Given the description of an element on the screen output the (x, y) to click on. 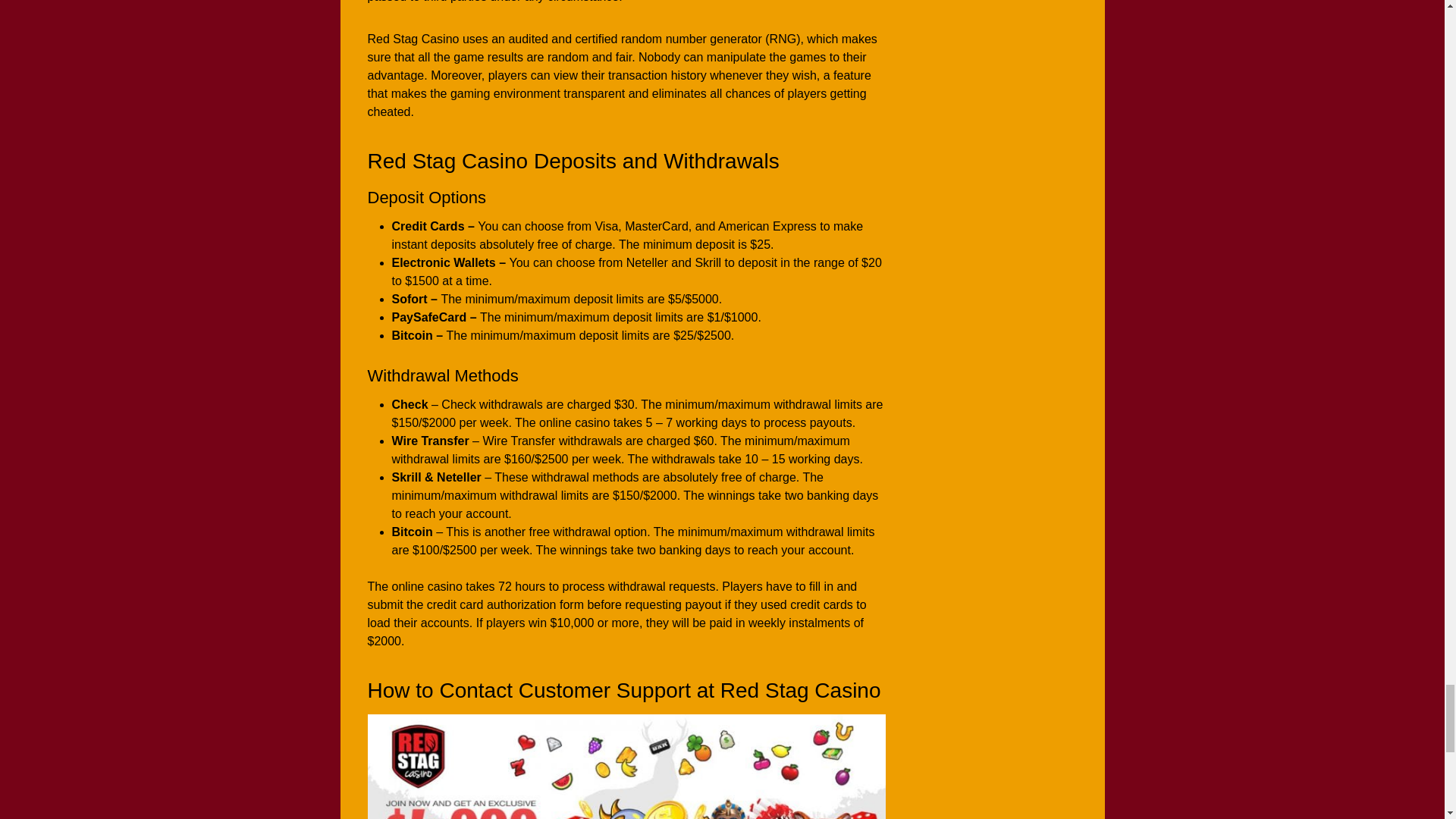
Red stag bonus (625, 766)
